Given the description of an element on the screen output the (x, y) to click on. 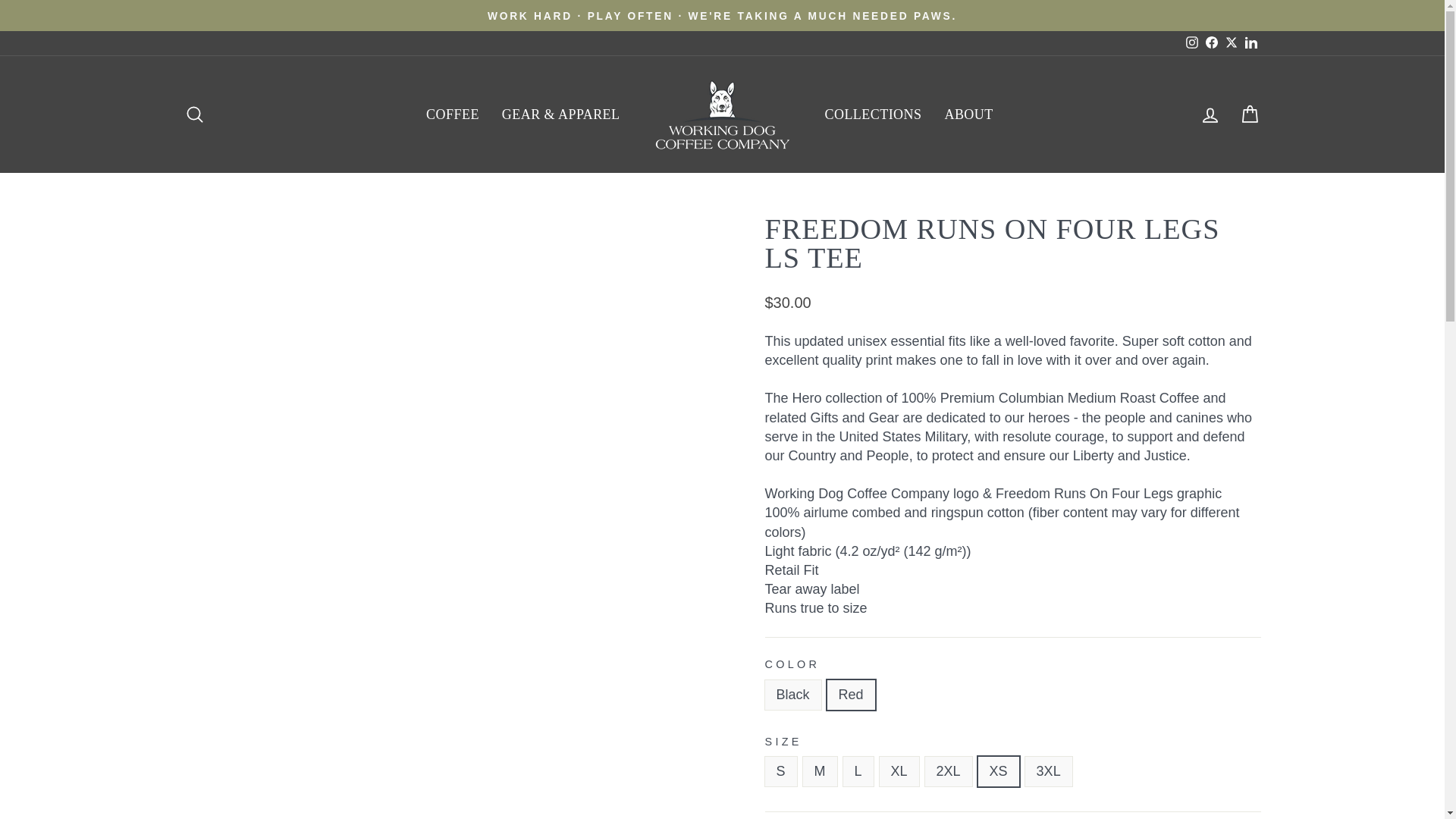
The Working Dog Coffee Company, LLC on LinkedIn (1250, 42)
The Working Dog Coffee Company, LLC on Facebook (1211, 42)
The Working Dog Coffee Company, LLC on X (1230, 42)
The Working Dog Coffee Company, LLC on Instagram (1190, 42)
